Given the description of an element on the screen output the (x, y) to click on. 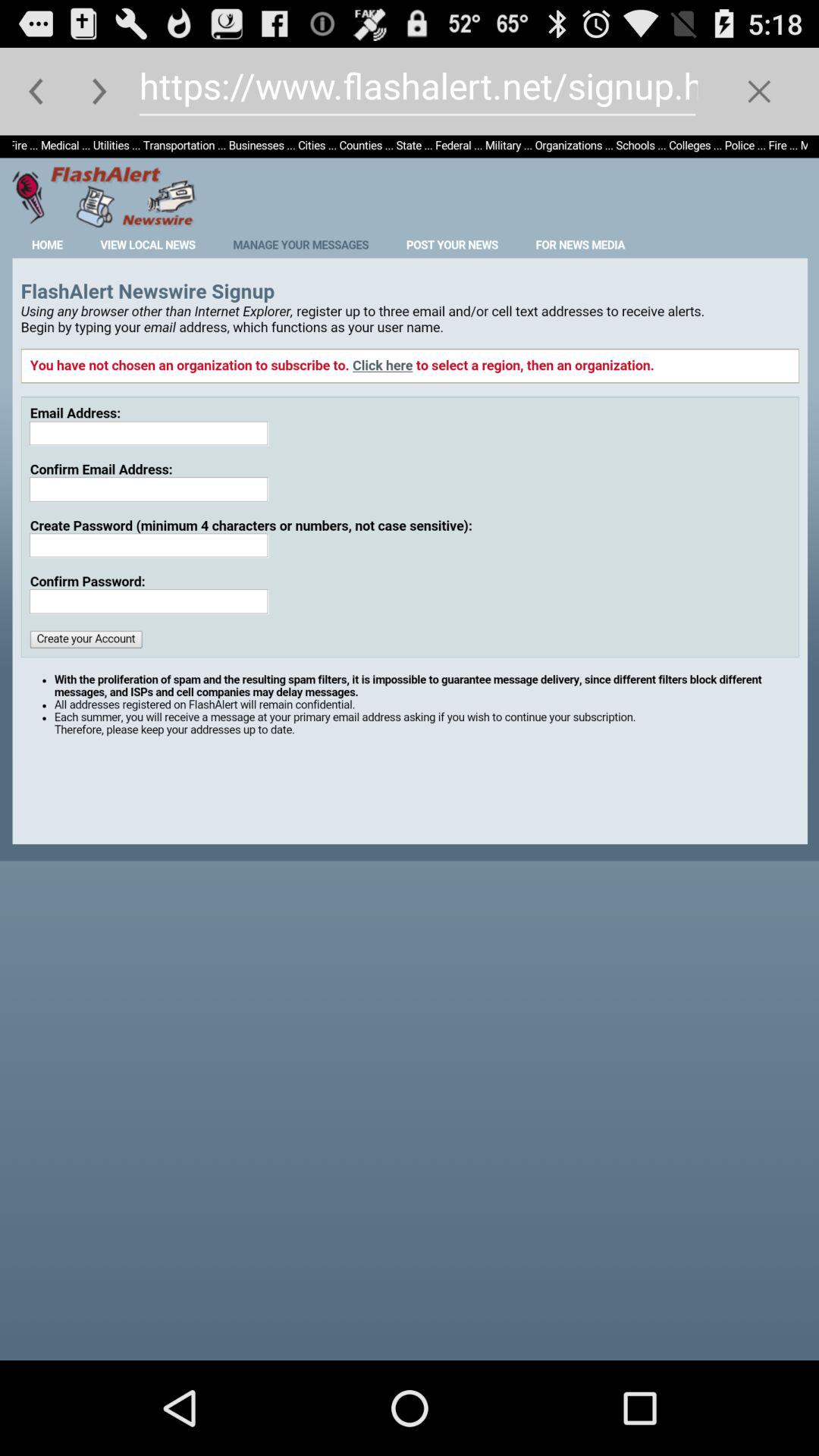
close (759, 91)
